Given the description of an element on the screen output the (x, y) to click on. 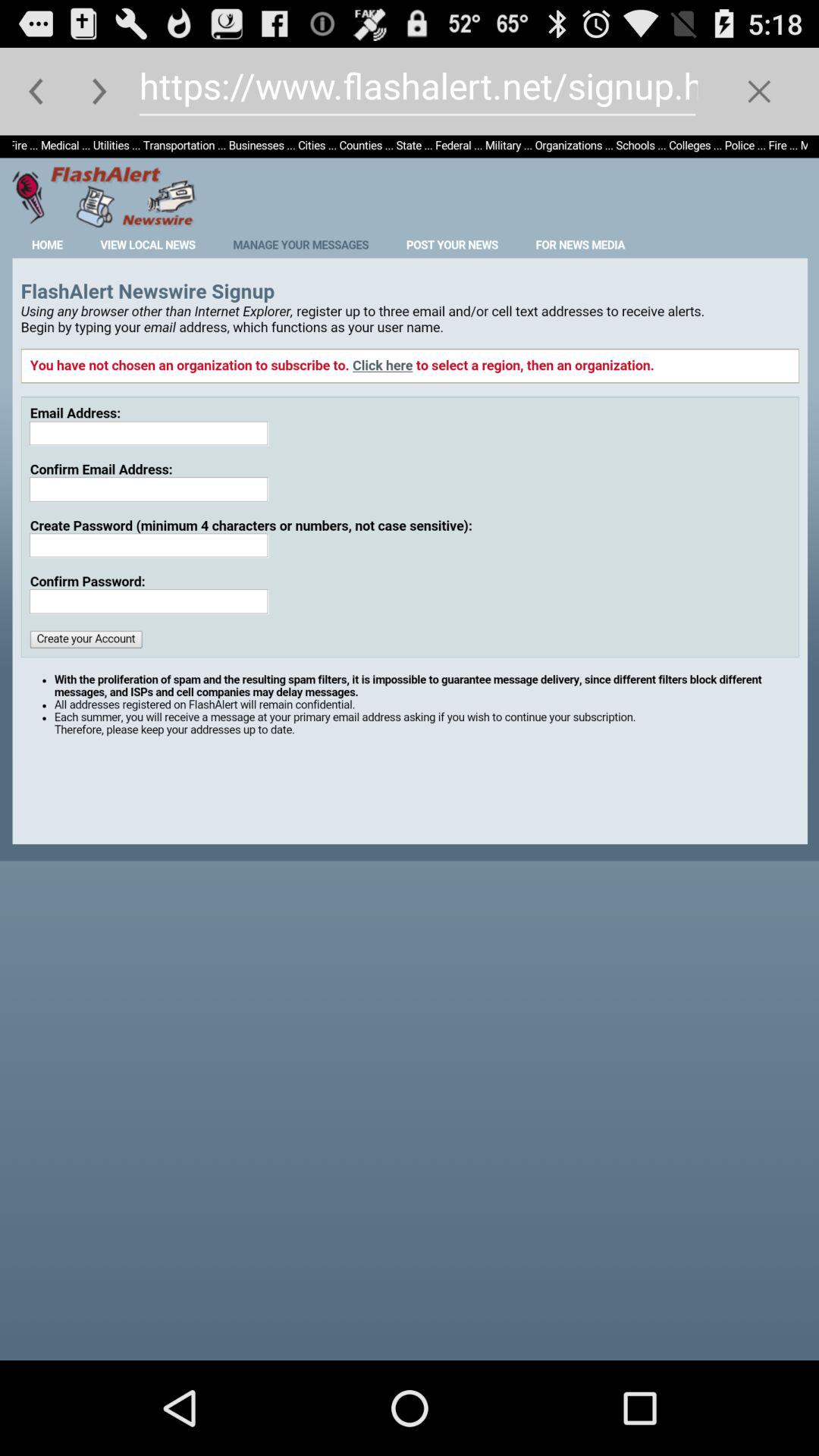
close (759, 91)
